Given the description of an element on the screen output the (x, y) to click on. 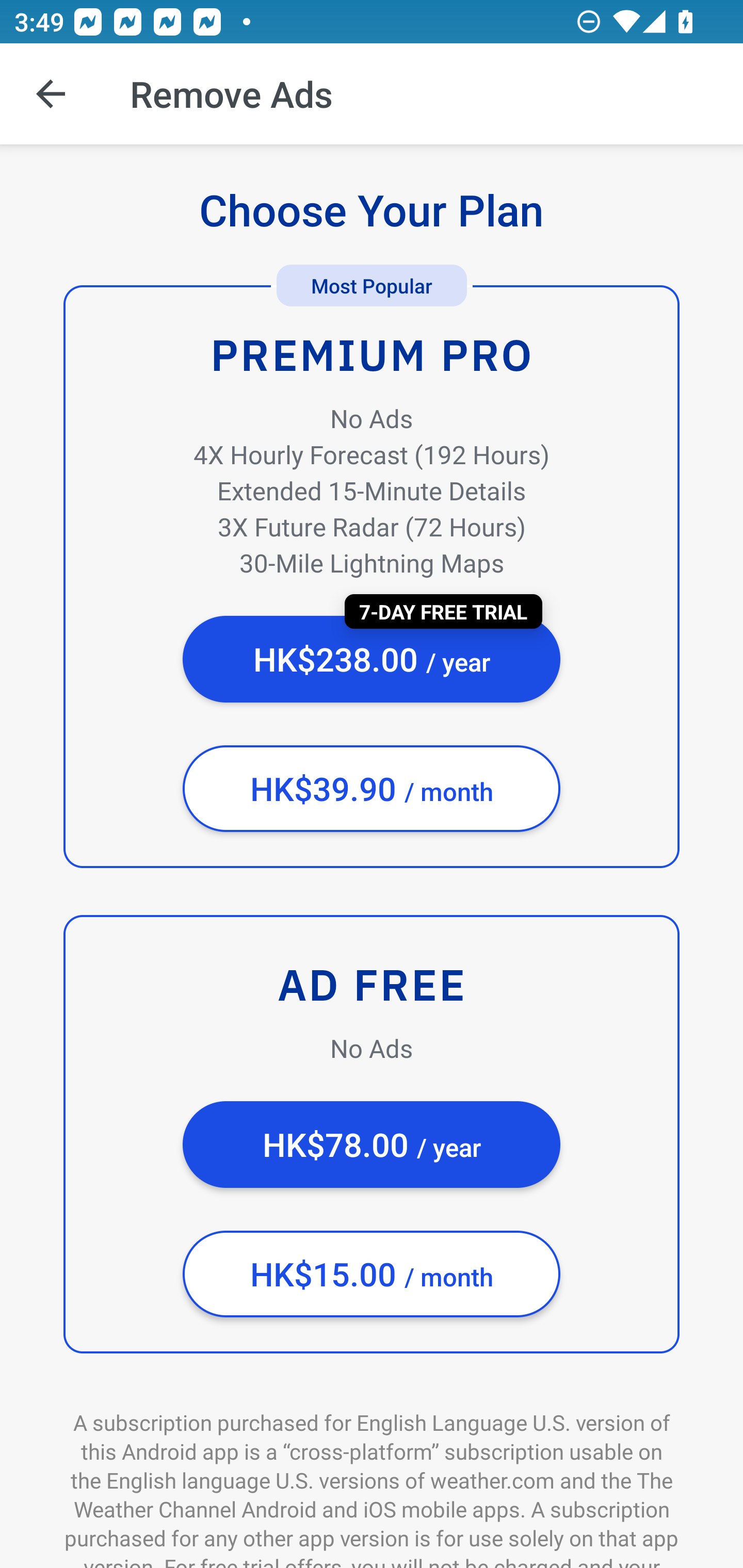
Navigate up (50, 93)
HK$238.00 / year (371, 659)
HK$39.90 / month (371, 788)
HK$78.00 / year (371, 1144)
HK$15.00 / month (371, 1273)
